Given the description of an element on the screen output the (x, y) to click on. 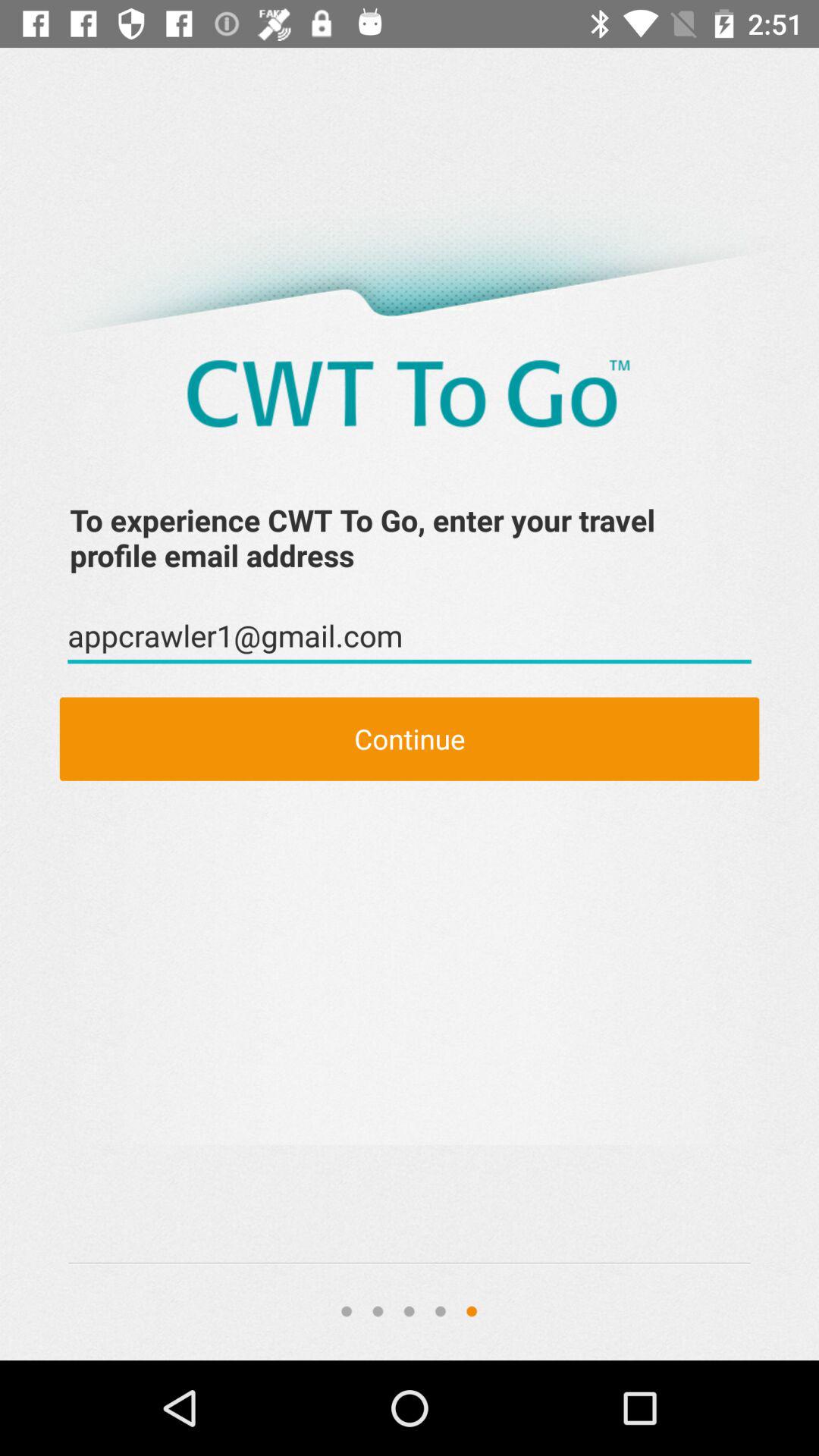
press the item below appcrawler1@gmail.com icon (409, 738)
